Given the description of an element on the screen output the (x, y) to click on. 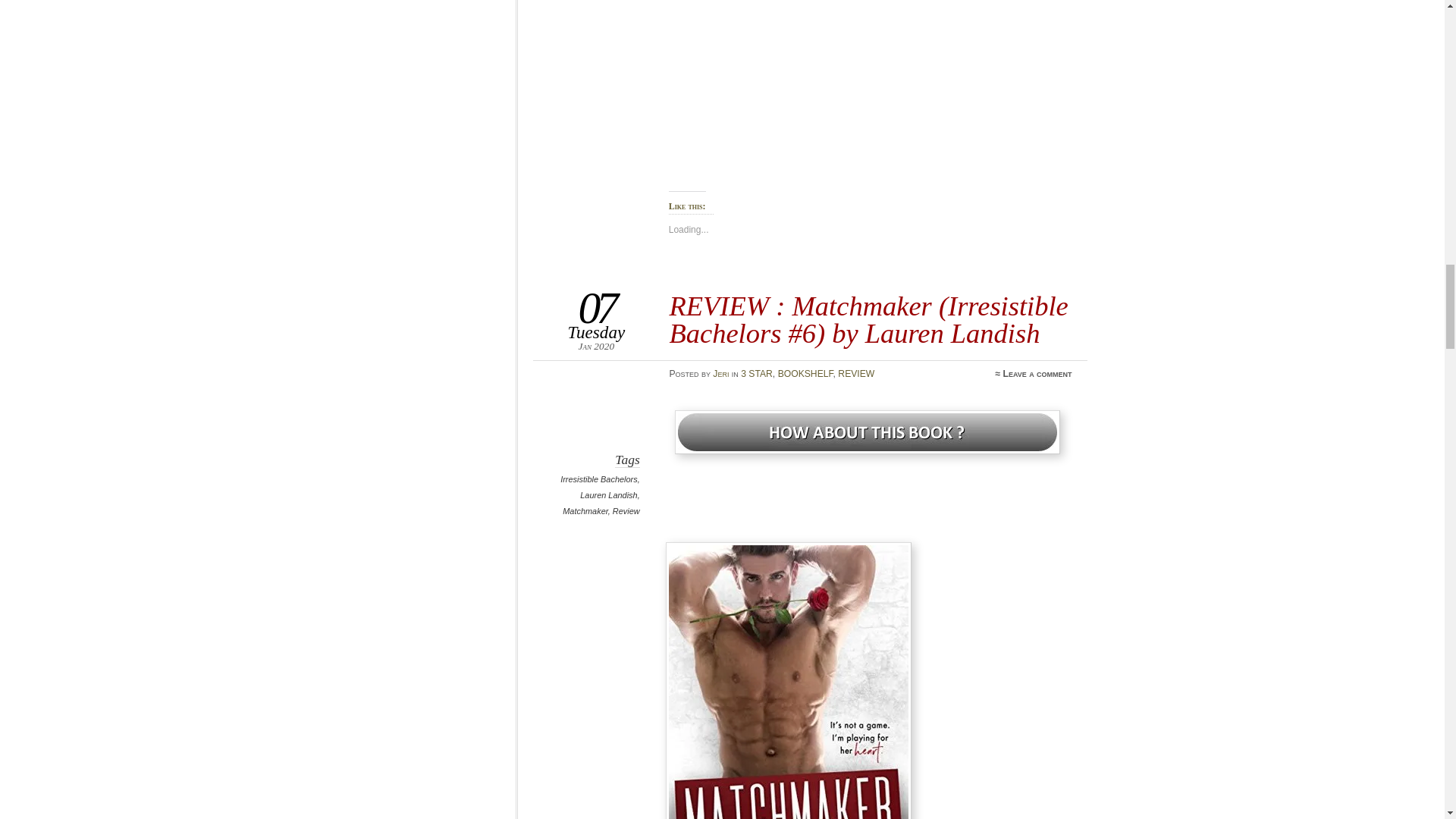
3 STAR (757, 373)
Jeri (721, 373)
Irresistible Bachelors (598, 479)
Review (626, 510)
View all posts by Jeri (721, 373)
REVIEW (856, 373)
Matchmaker (585, 510)
BOOKSHELF (804, 373)
Lauren Landish (608, 494)
Leave a comment (1037, 373)
